Given the description of an element on the screen output the (x, y) to click on. 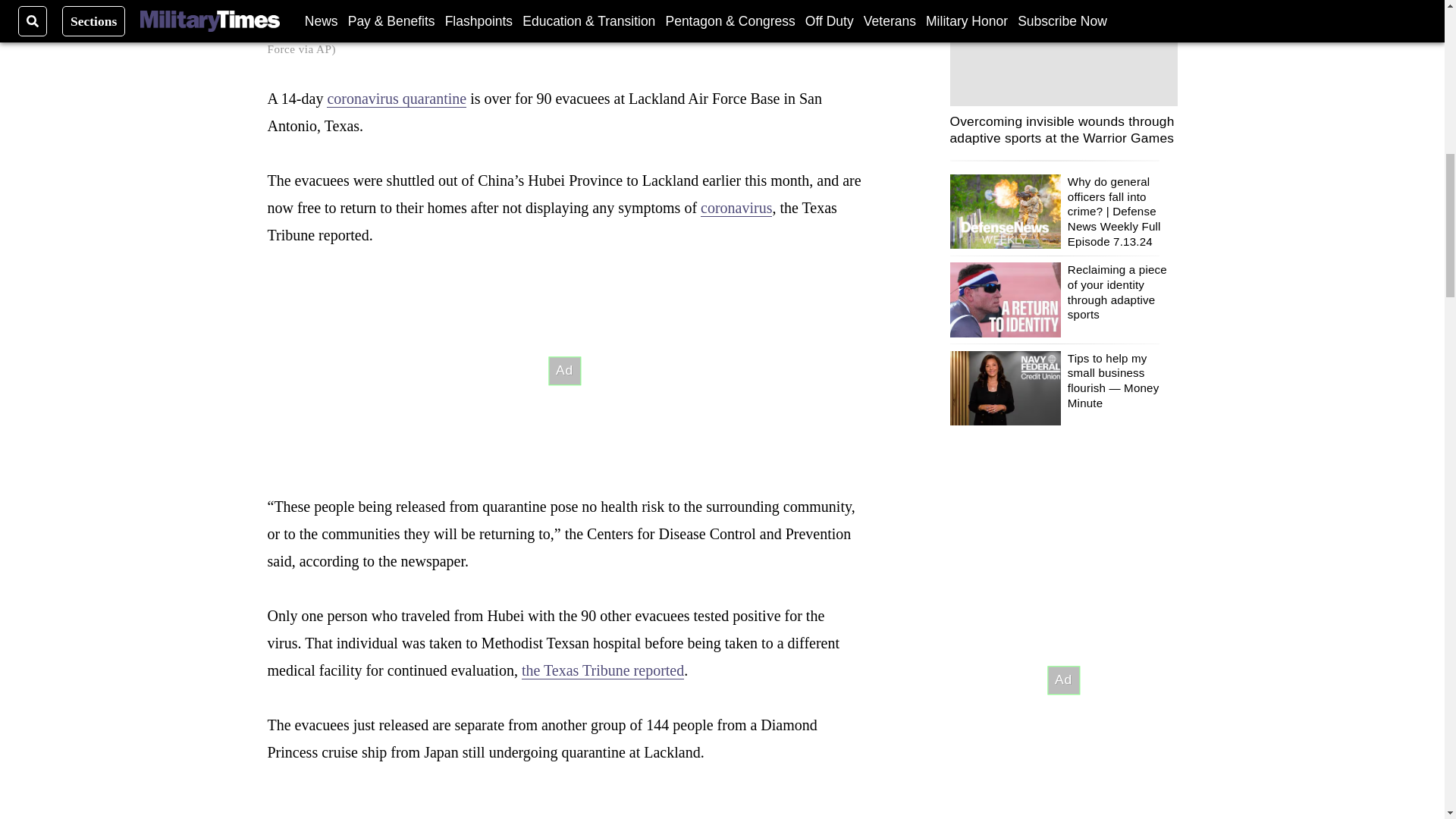
3rd party ad content (563, 371)
3rd party ad content (1062, 679)
